Given the description of an element on the screen output the (x, y) to click on. 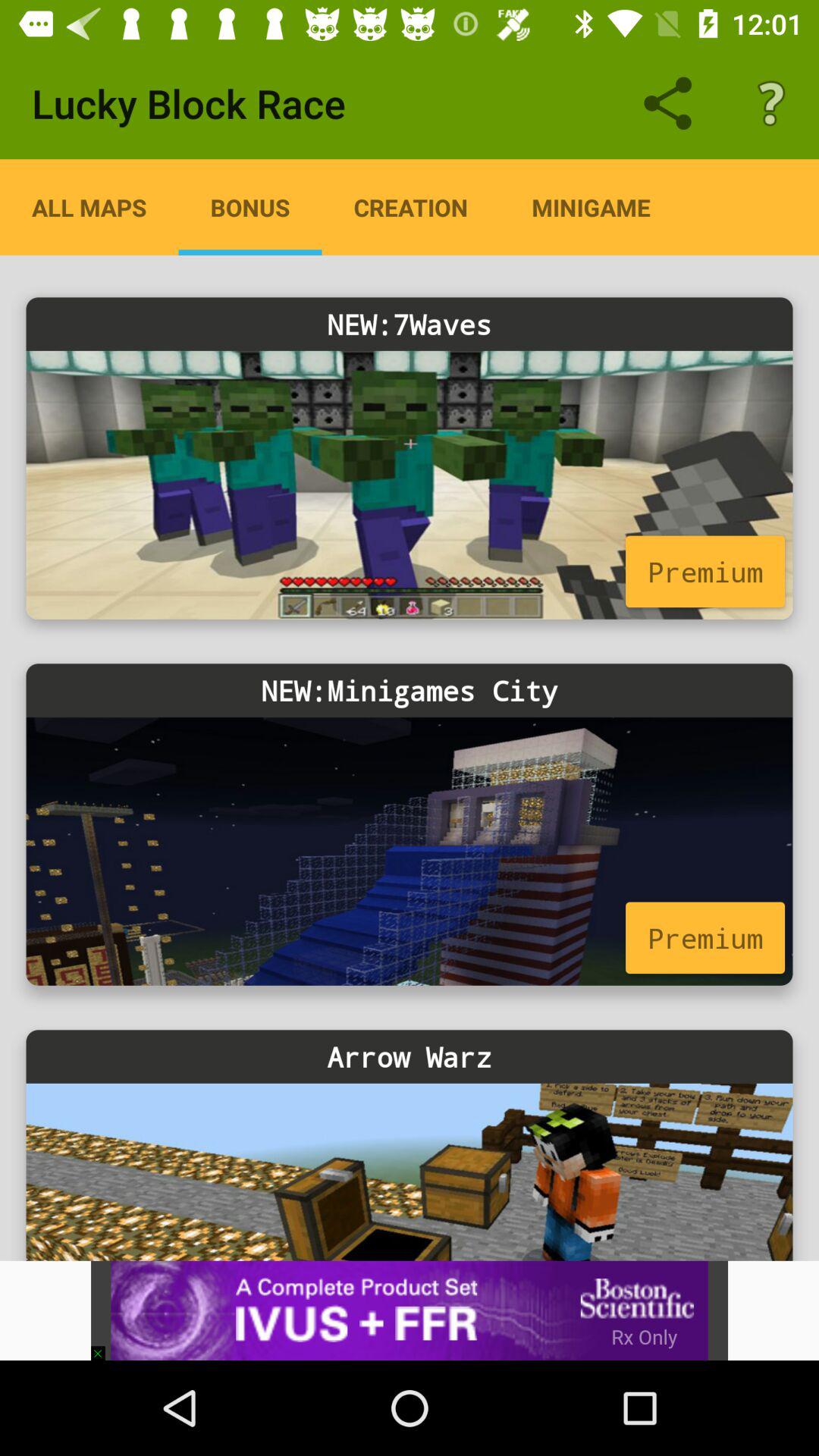
scroll to all maps icon (89, 207)
